Given the description of an element on the screen output the (x, y) to click on. 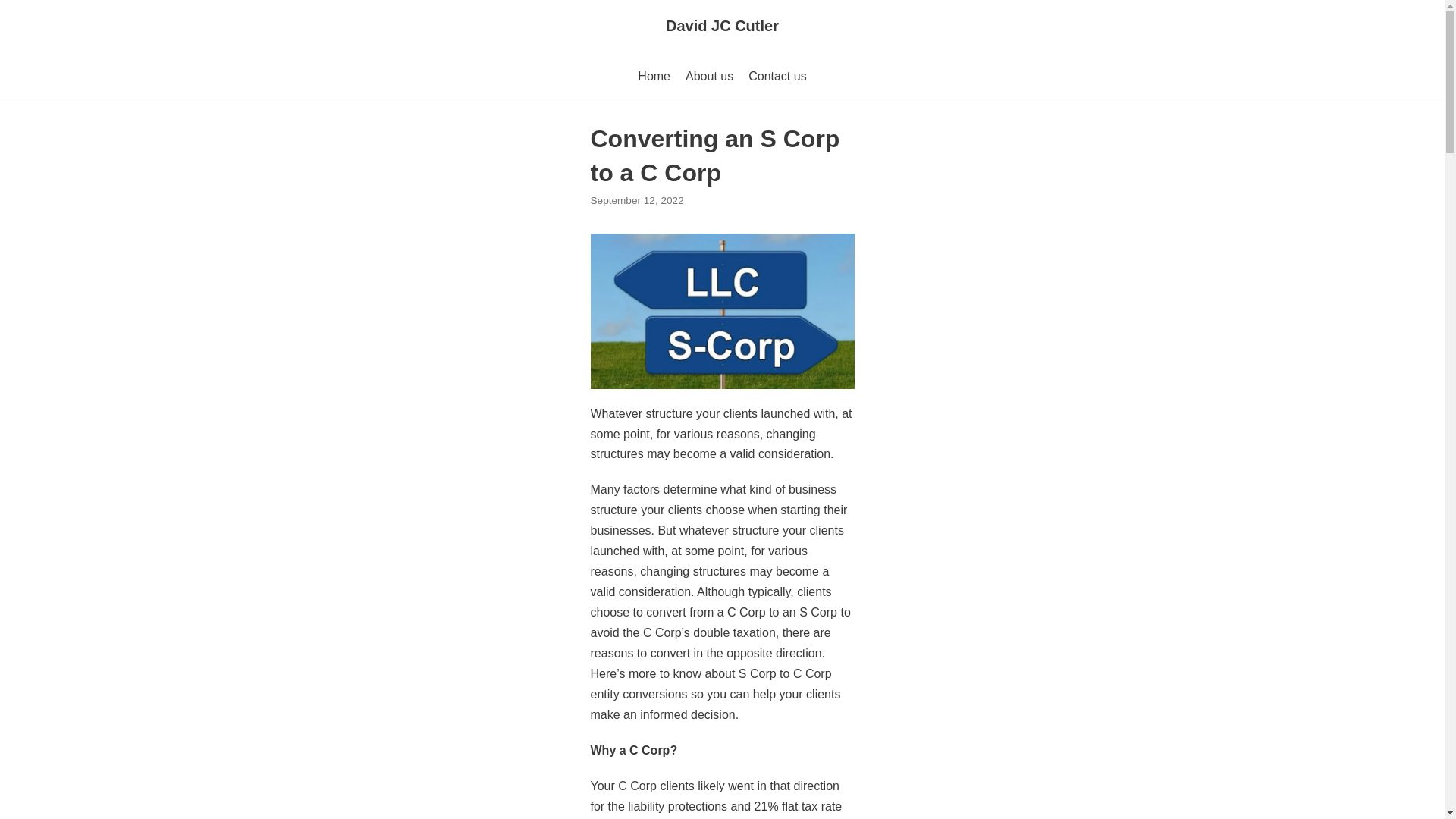
About us (709, 76)
David JC Cutler (721, 26)
Contact us (777, 76)
Home (653, 76)
Skip to content (15, 31)
David JC Cutler (721, 26)
